Given the description of an element on the screen output the (x, y) to click on. 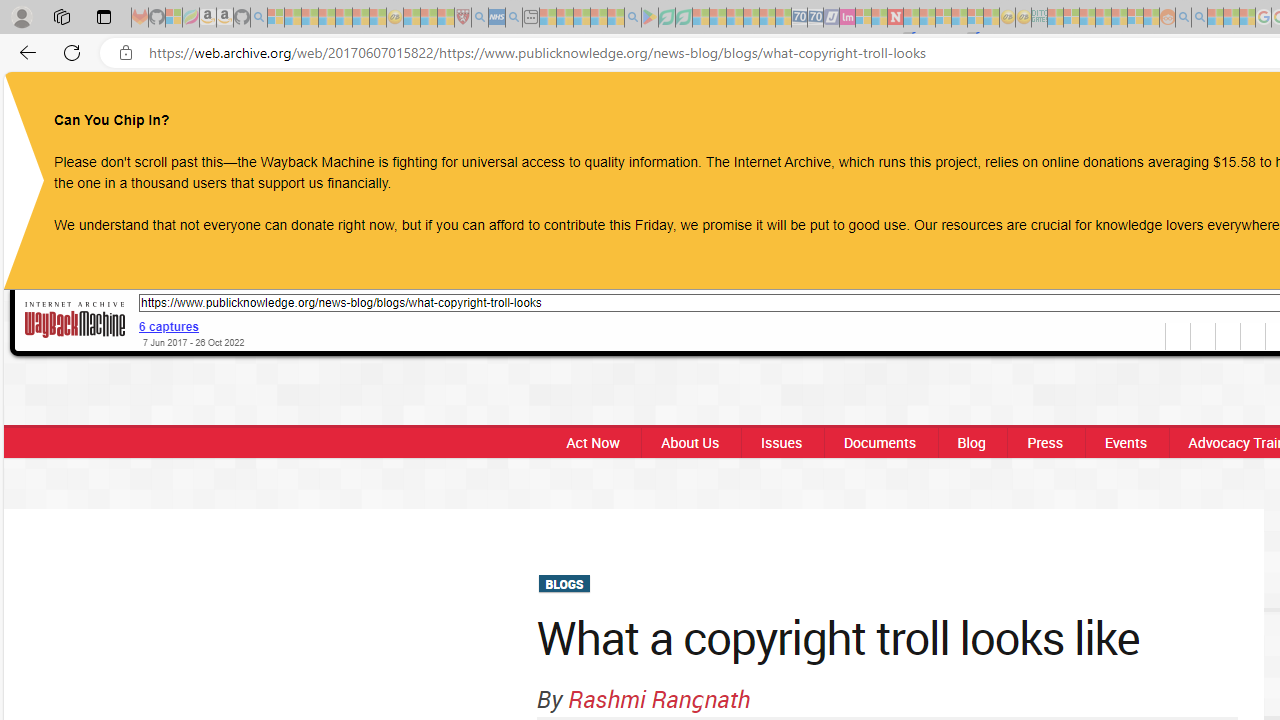
Press (1045, 442)
Act Now (587, 442)
MSNBC - MSN - Sleeping (1055, 17)
Local - MSN - Sleeping (445, 17)
Blog (970, 442)
Open the menu (783, 109)
Expert Portfolios - Sleeping (1103, 17)
